Given the description of an element on the screen output the (x, y) to click on. 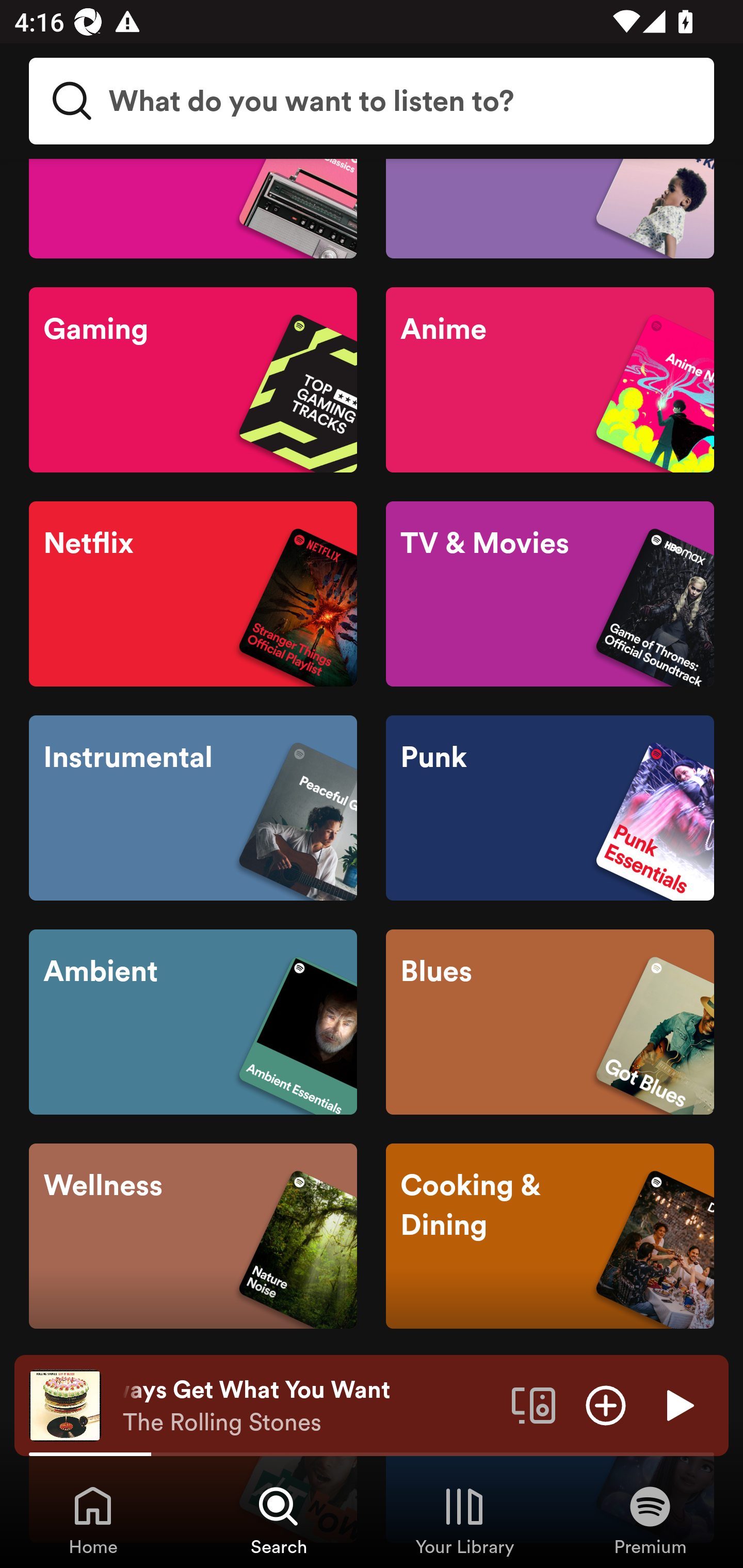
Soul (192, 208)
Kids & Family (549, 208)
Gaming (192, 378)
Anime (549, 378)
Netflix (192, 593)
TV & Movies (549, 593)
Instrumental (192, 807)
Punk (549, 807)
Ambient (192, 1021)
Blues (549, 1021)
Wellness (192, 1235)
Cooking & Dining (549, 1235)
The cover art of the currently playing track (64, 1404)
Connect to a device. Opens the devices menu (533, 1404)
Add item (605, 1404)
Play (677, 1404)
Home, Tab 1 of 4 Home Home (92, 1519)
Search, Tab 2 of 4 Search Search (278, 1519)
Your Library, Tab 3 of 4 Your Library Your Library (464, 1519)
Premium, Tab 4 of 4 Premium Premium (650, 1519)
